Given the description of an element on the screen output the (x, y) to click on. 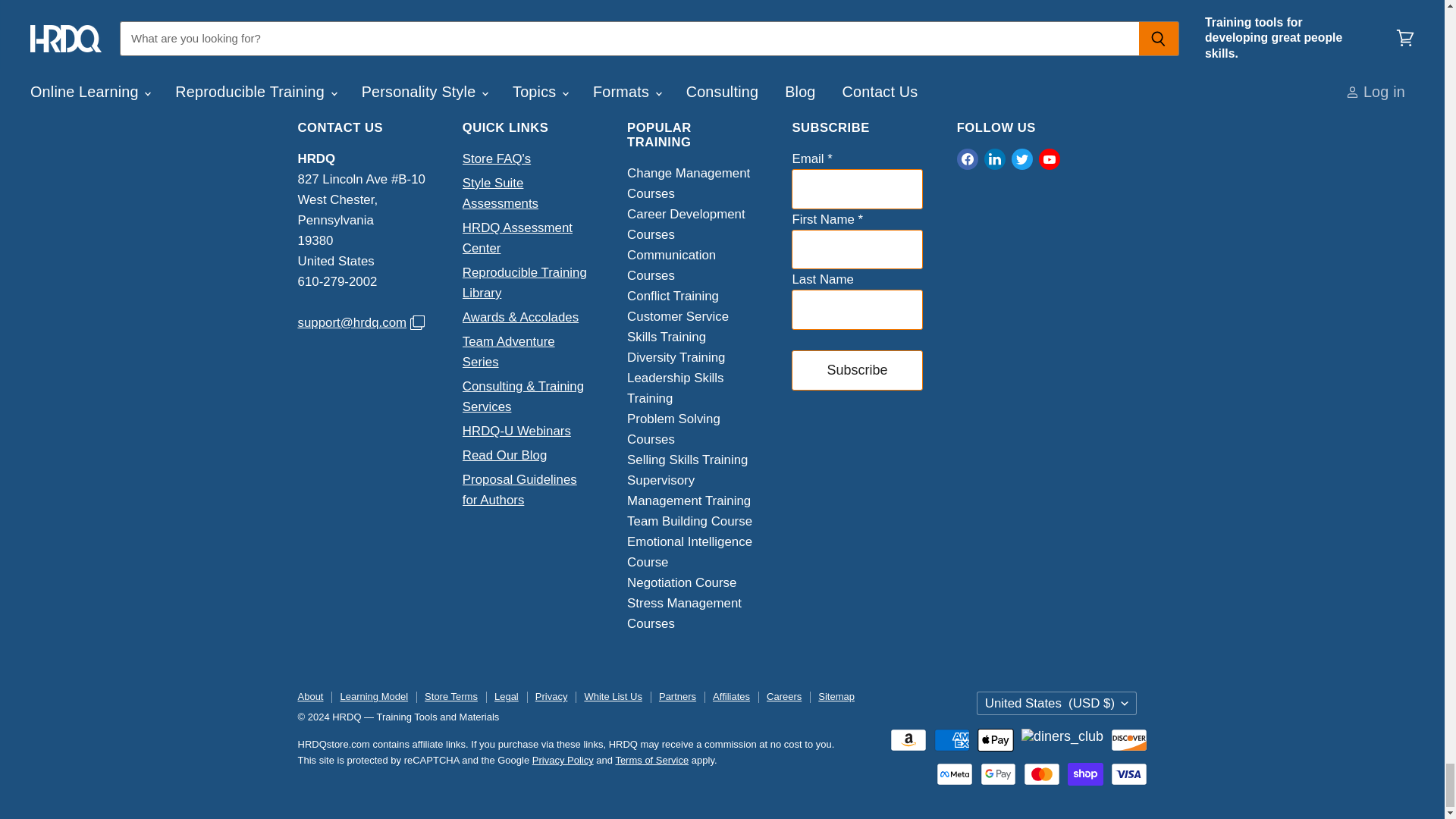
master (1041, 773)
LinkedIn (995, 158)
discover (1128, 739)
Facebook (967, 158)
Twitter (1022, 158)
YouTube (1048, 158)
Subscribe (856, 370)
visa (1128, 773)
